Given the description of an element on the screen output the (x, y) to click on. 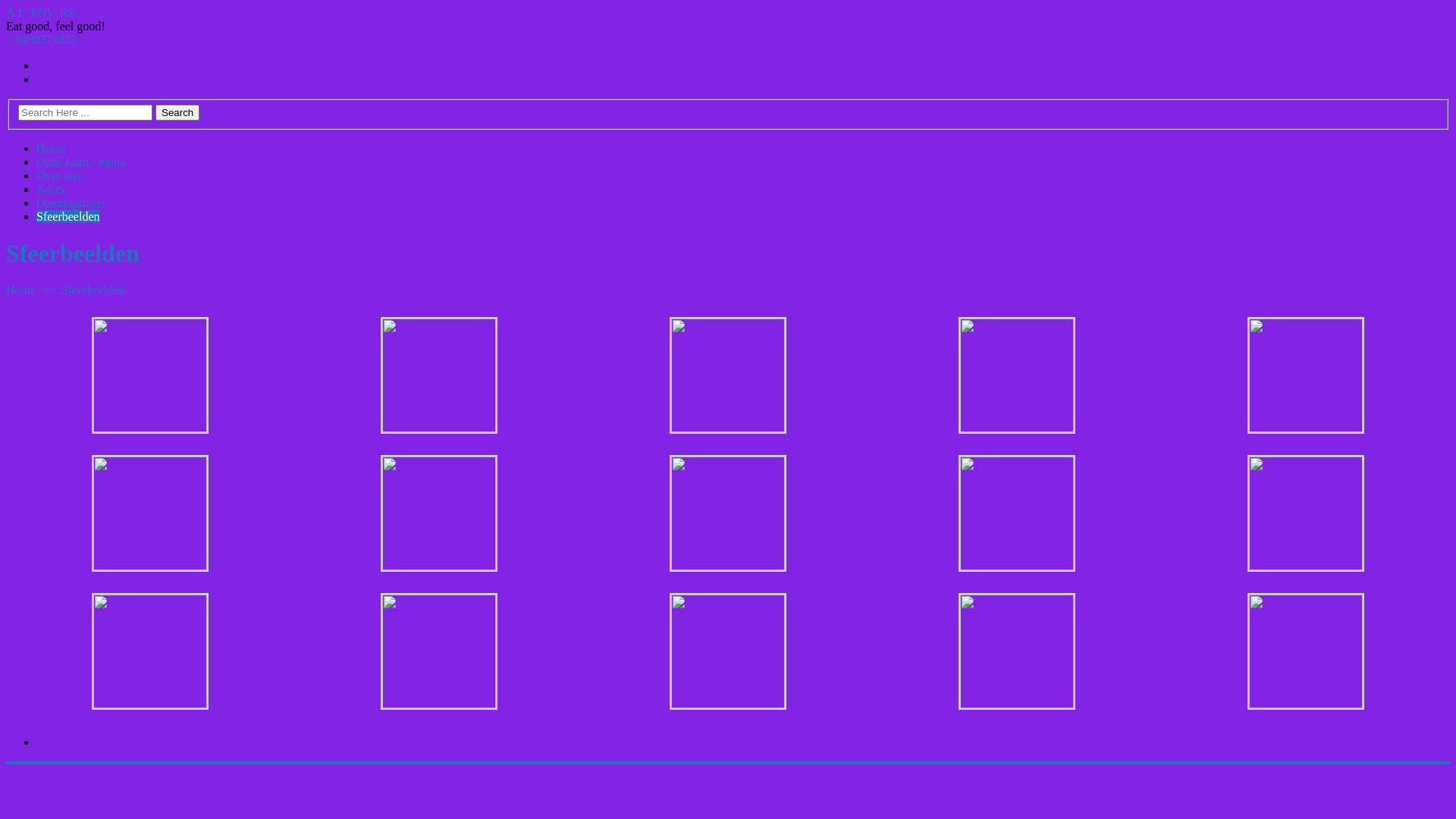
Over ons Element type: text (58, 175)
Home Element type: text (20, 289)
Onze kaart / menu Element type: text (80, 161)
0498272033 Element type: text (45, 39)
Home Element type: text (50, 147)
Openingsuren Element type: text (70, 202)
Adres Element type: text (50, 188)
Search Element type: text (177, 112)
Sfeerbeelden Element type: text (68, 216)
